Given the description of an element on the screen output the (x, y) to click on. 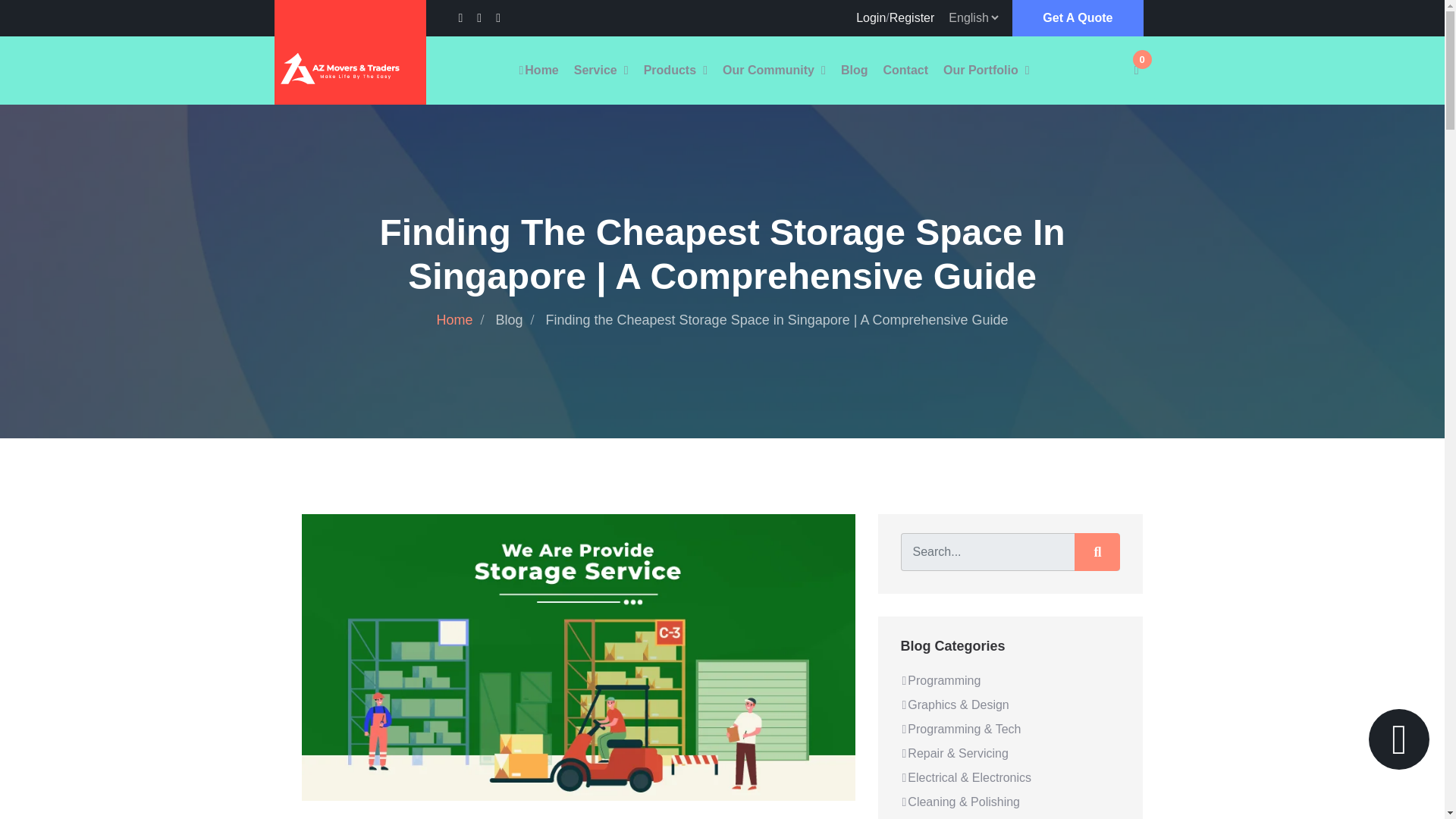
Get A Quote (1076, 18)
Login (870, 17)
Service (595, 69)
Register (911, 17)
Home (536, 69)
